Given the description of an element on the screen output the (x, y) to click on. 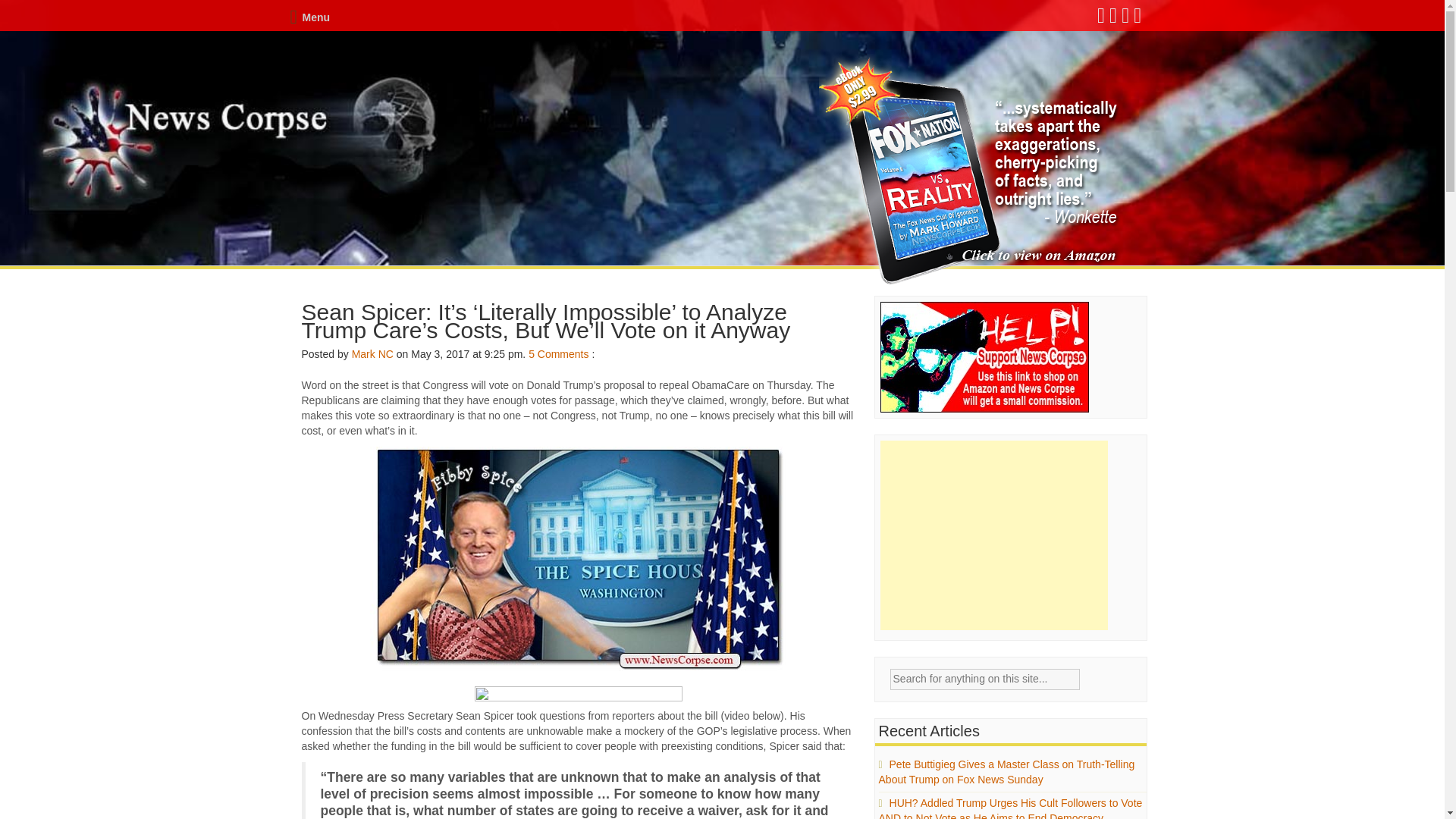
Mark NC (372, 354)
Pinterest (1138, 19)
Facebook (1101, 19)
Share on Facebook (578, 693)
Google Plus (1126, 19)
5 (531, 354)
Comments (563, 354)
Fox Nation vs. Reality (971, 170)
Posts by Mark NC (372, 354)
Menu (309, 17)
Twitter (1113, 19)
